Given the description of an element on the screen output the (x, y) to click on. 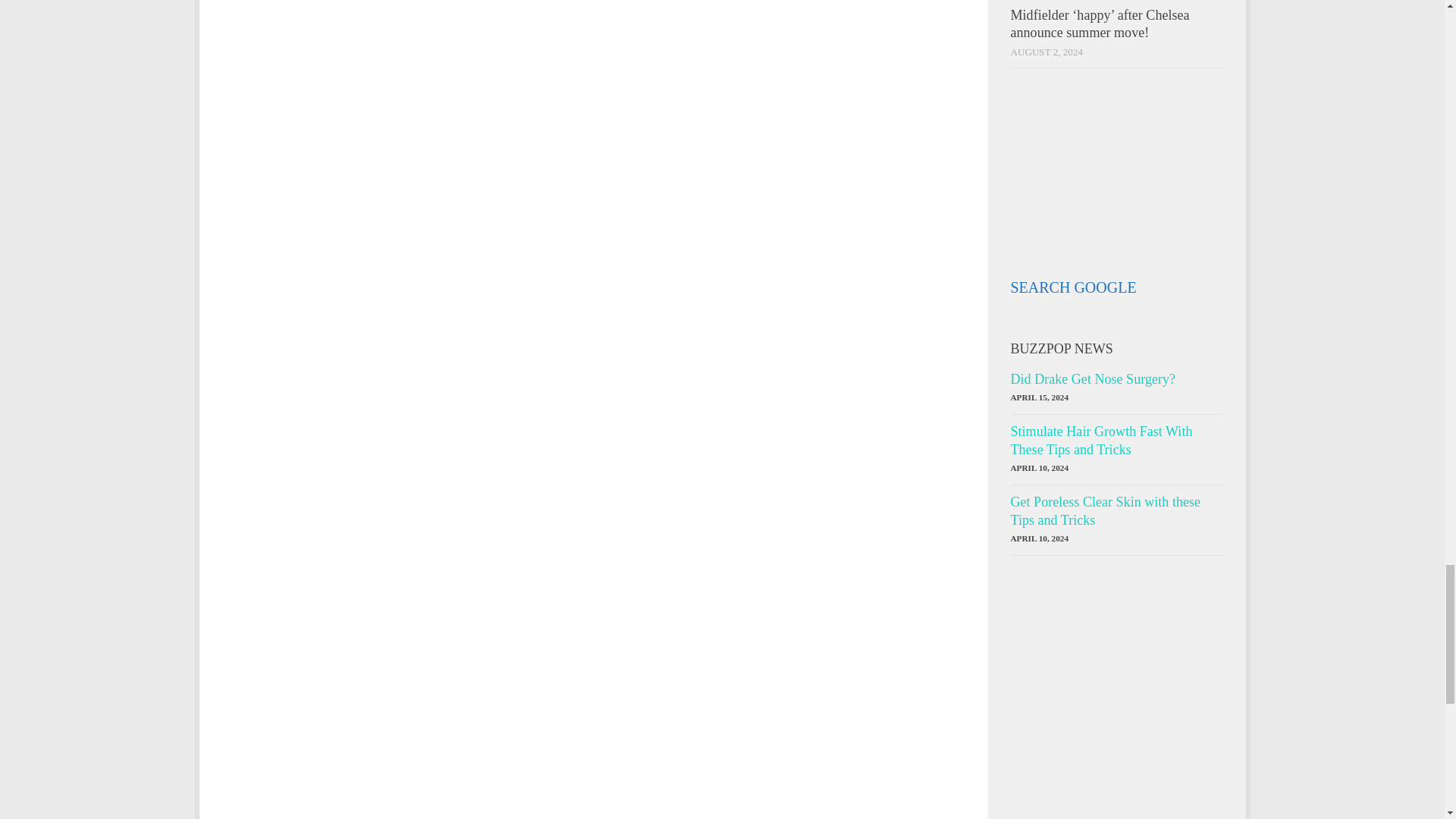
Chelsea News (1055, 192)
